Given the description of an element on the screen output the (x, y) to click on. 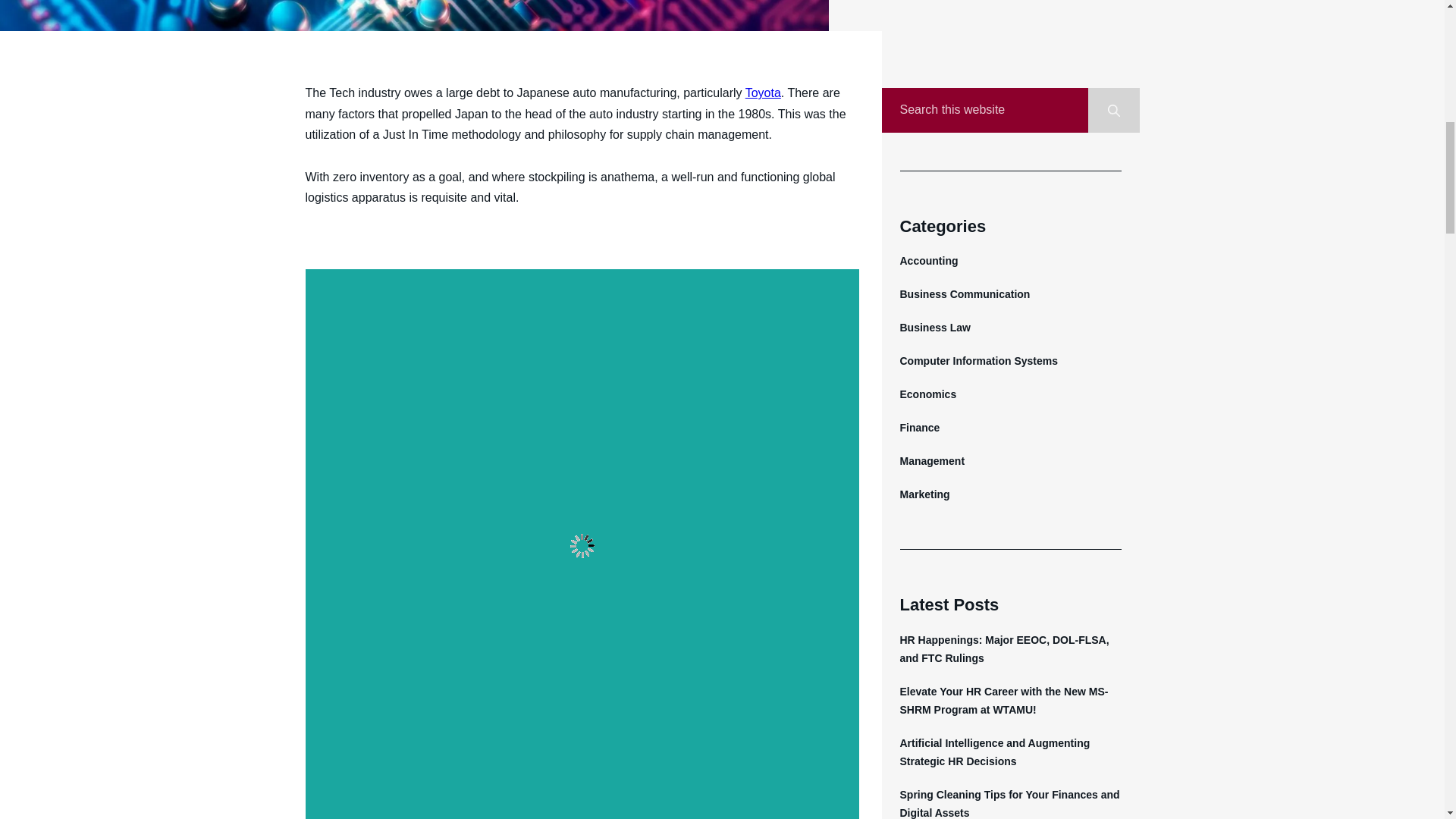
Search (1112, 109)
Spring Cleaning Tips for Your Finances and Digital Assets (1009, 803)
Computer Information Systems (978, 360)
Management (931, 460)
Economics (927, 394)
Toyota (762, 92)
Finance (919, 427)
HR Happenings: Major EEOC, DOL-FLSA, and FTC Rulings (1003, 648)
Business Communication (964, 294)
Business Law (934, 327)
Marketing (924, 494)
Search (1112, 109)
Accounting (928, 260)
